Given the description of an element on the screen output the (x, y) to click on. 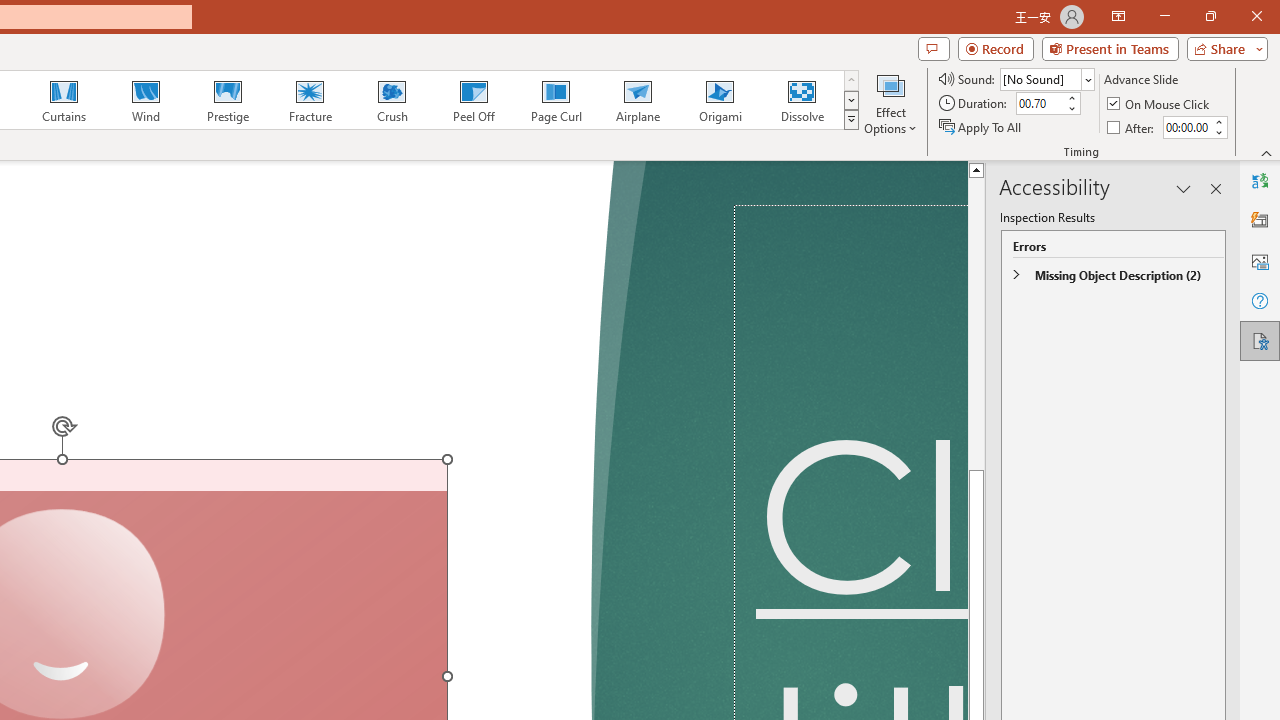
Apply To All (981, 126)
Effect Options (890, 102)
Peel Off (473, 100)
Wind (145, 100)
Curtains (63, 100)
